Given the description of an element on the screen output the (x, y) to click on. 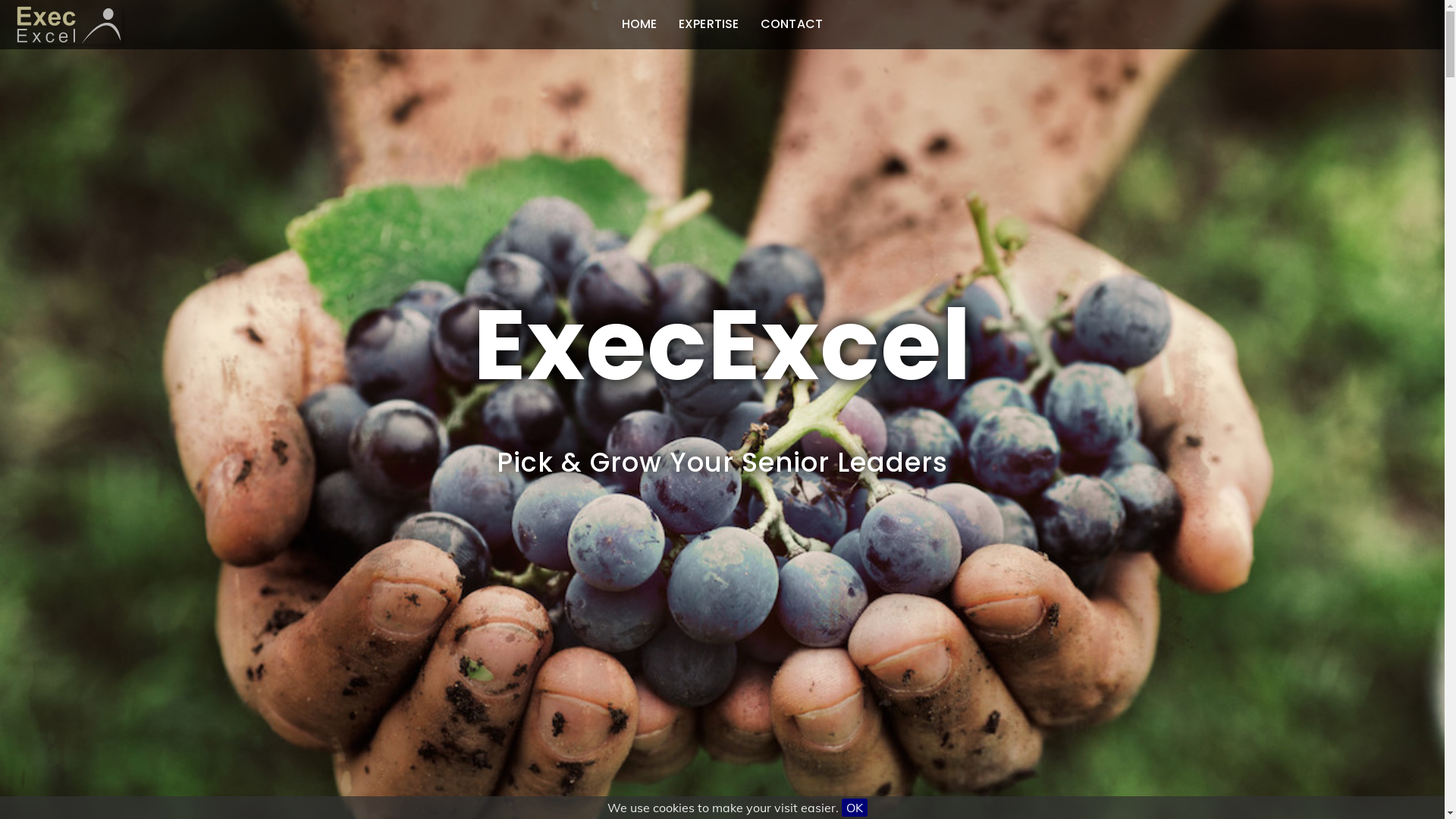
OK Element type: text (854, 807)
ExecExcel Element type: text (722, 344)
HOME Element type: text (639, 24)
EXPERTISE Element type: text (708, 24)
CONTACT Element type: text (791, 24)
